Given the description of an element on the screen output the (x, y) to click on. 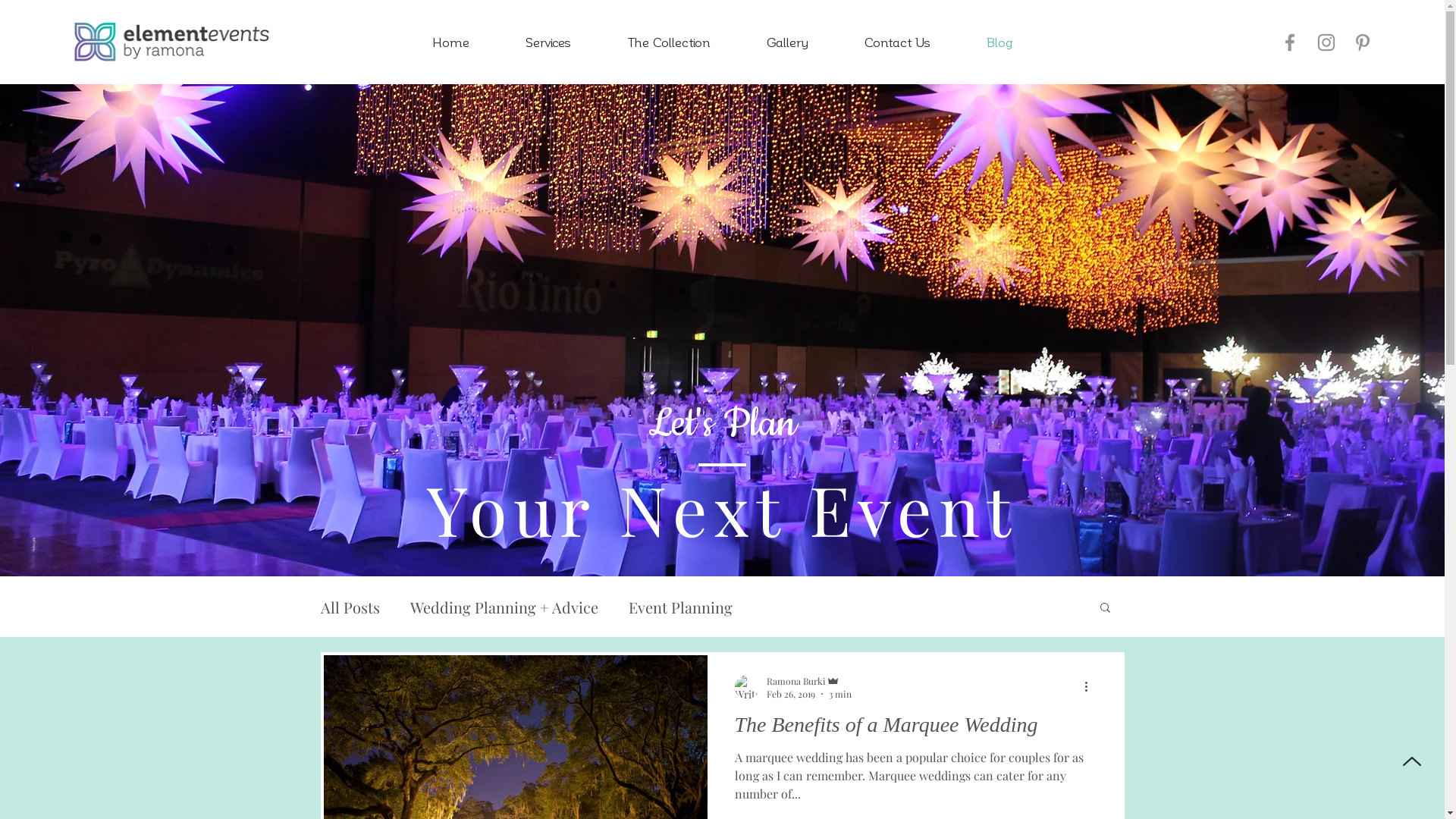
Gallery Element type: text (787, 41)
Home Element type: text (449, 41)
Blog Element type: text (999, 41)
EEBR_Logo_L_ReverseColour.png Element type: hover (170, 41)
The Benefits of a Marquee Wedding Element type: text (913, 728)
Contact Us Element type: text (896, 41)
Event Planning Element type: text (679, 606)
All Posts Element type: text (349, 606)
Wedding Planning + Advice Element type: text (503, 606)
